Given the description of an element on the screen output the (x, y) to click on. 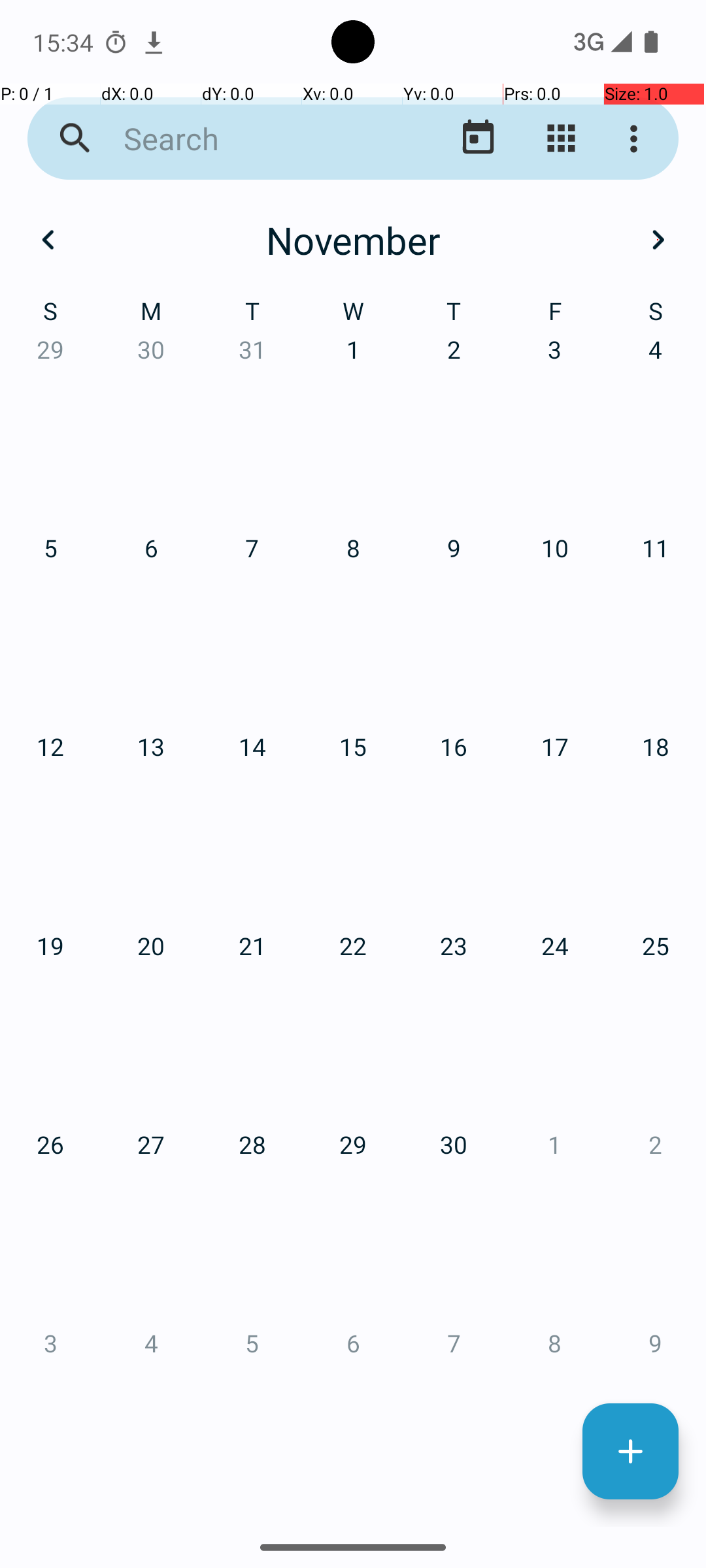
November Element type: android.widget.TextView (352, 239)
